Given the description of an element on the screen output the (x, y) to click on. 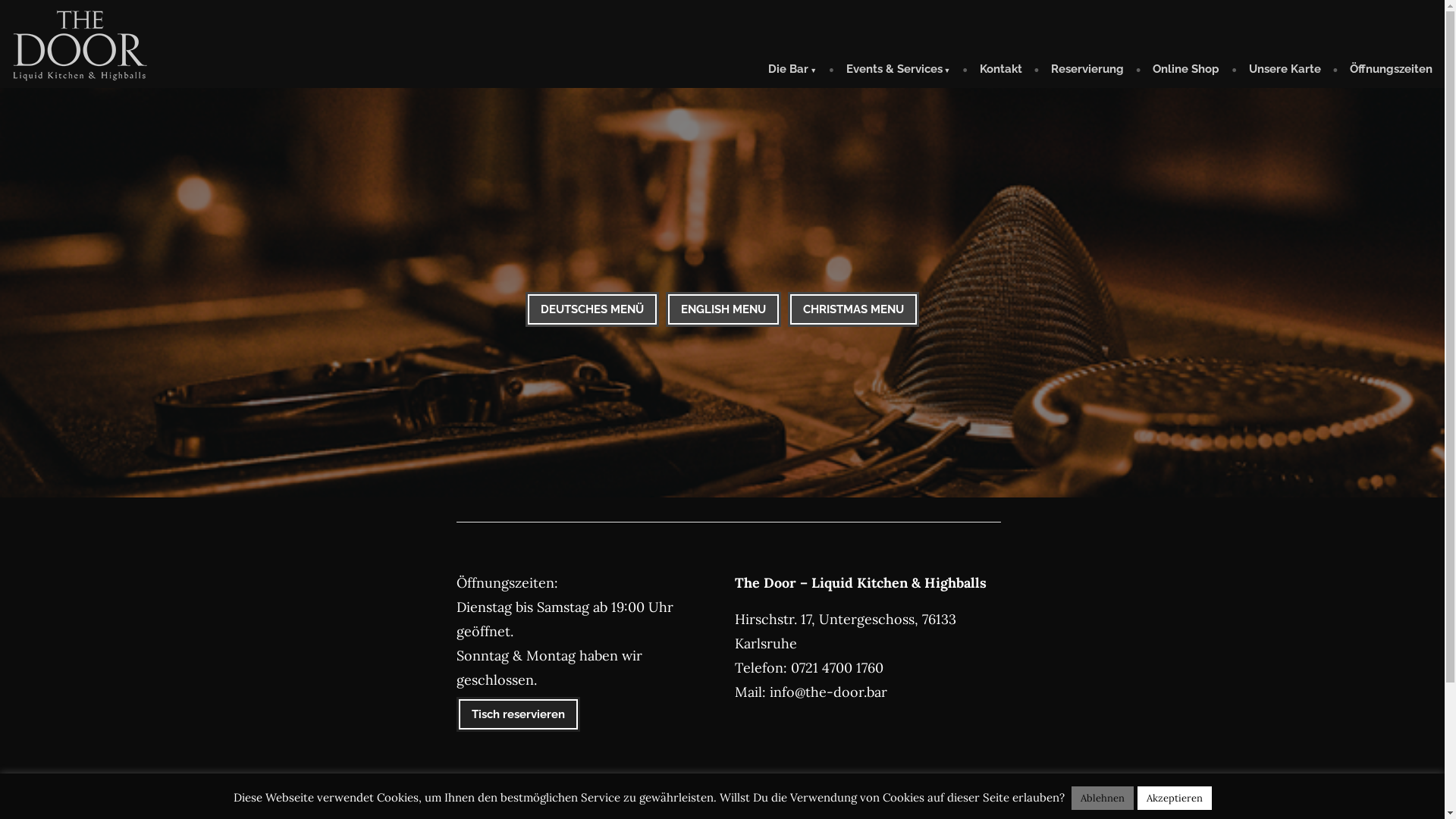
Unsere Karte Element type: text (1284, 70)
Events & Services Element type: text (898, 70)
Online Shop Element type: text (1185, 70)
ENGLISH MENU Element type: text (723, 308)
Die Bar Element type: text (798, 70)
Kontakt Element type: text (1000, 70)
Tisch reservieren Element type: text (518, 713)
The Door Element type: text (37, 87)
Akzeptieren Element type: text (1174, 797)
Reservierung Element type: text (1086, 70)
Ablehnen Element type: text (1101, 797)
CHRISTMAS MENU Element type: text (853, 308)
